Given the description of an element on the screen output the (x, y) to click on. 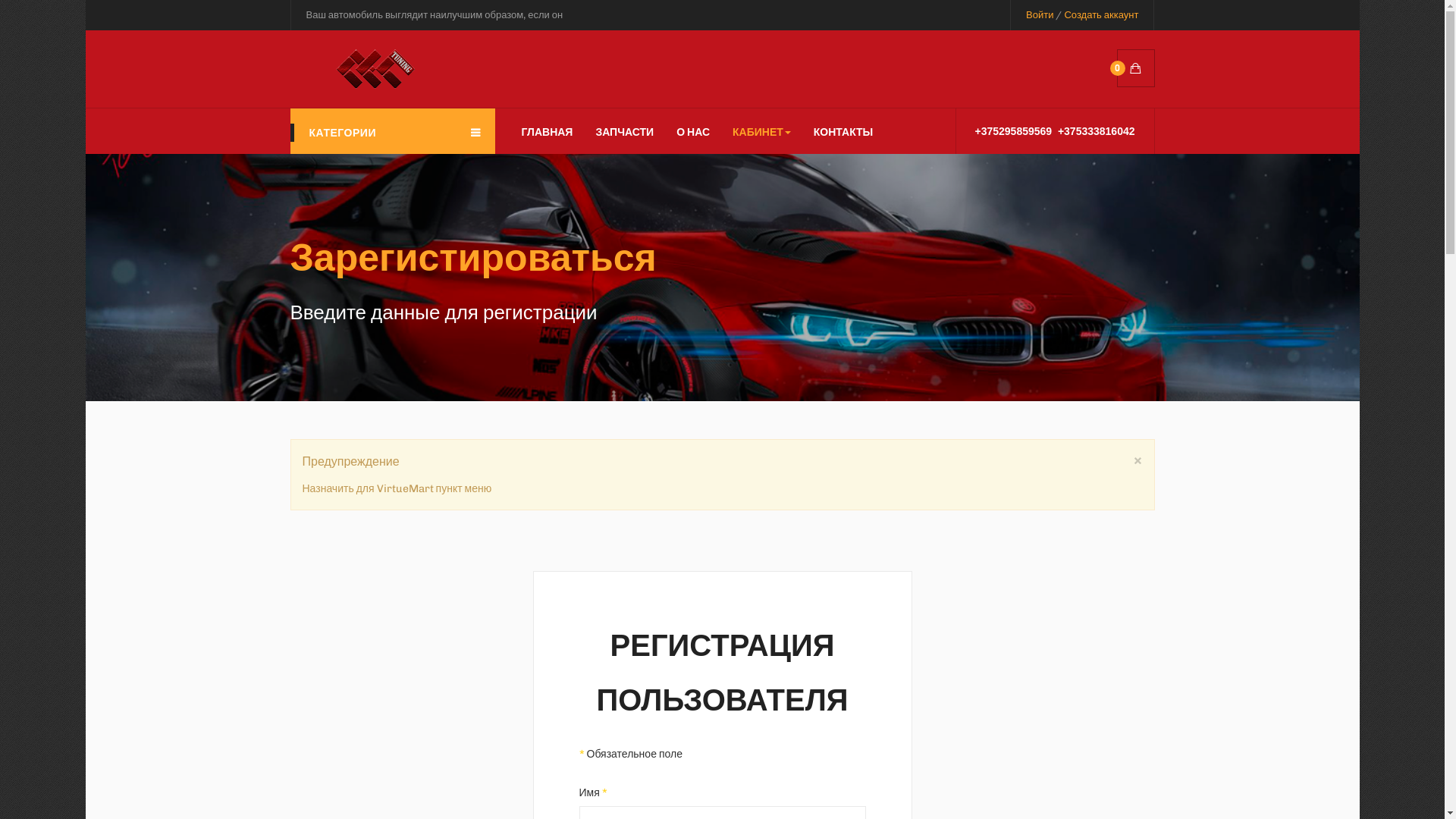
0 Element type: text (1135, 68)
clc.by Element type: hover (351, 68)
clc.tuning Element type: text (424, 44)
